Given the description of an element on the screen output the (x, y) to click on. 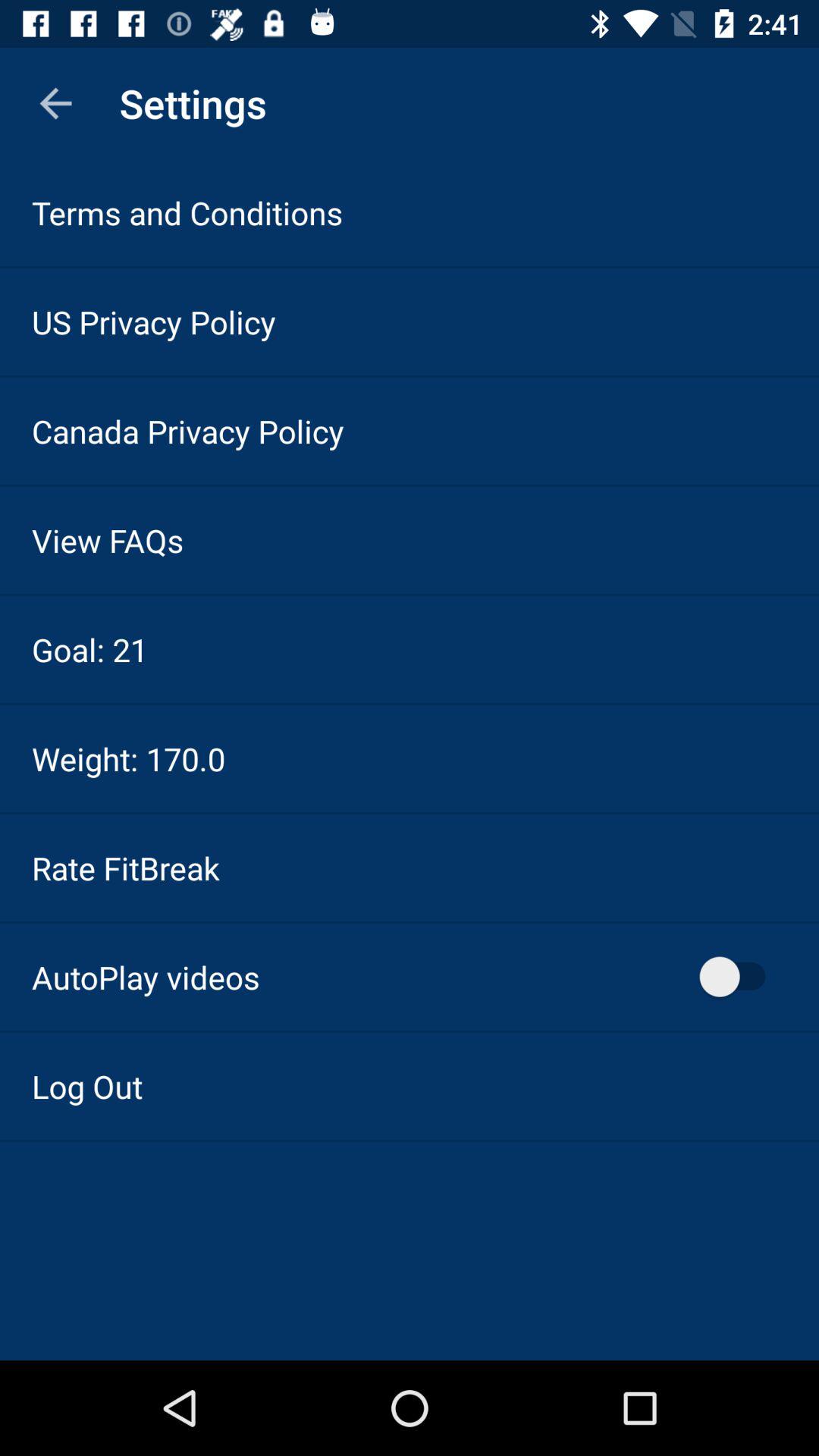
turn on rate fitbreak icon (125, 867)
